Given the description of an element on the screen output the (x, y) to click on. 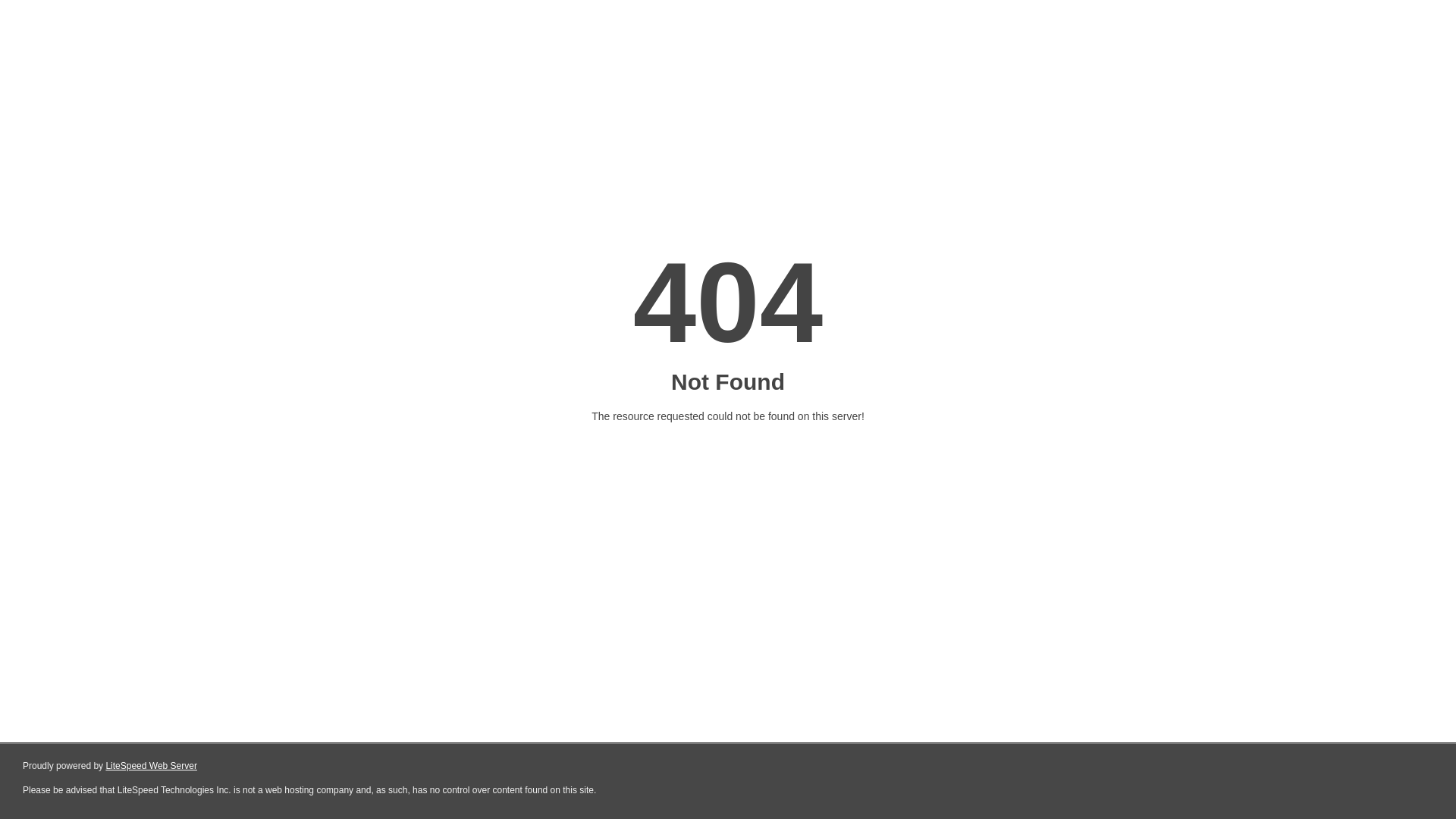
LiteSpeed Web Server Element type: text (151, 765)
